Given the description of an element on the screen output the (x, y) to click on. 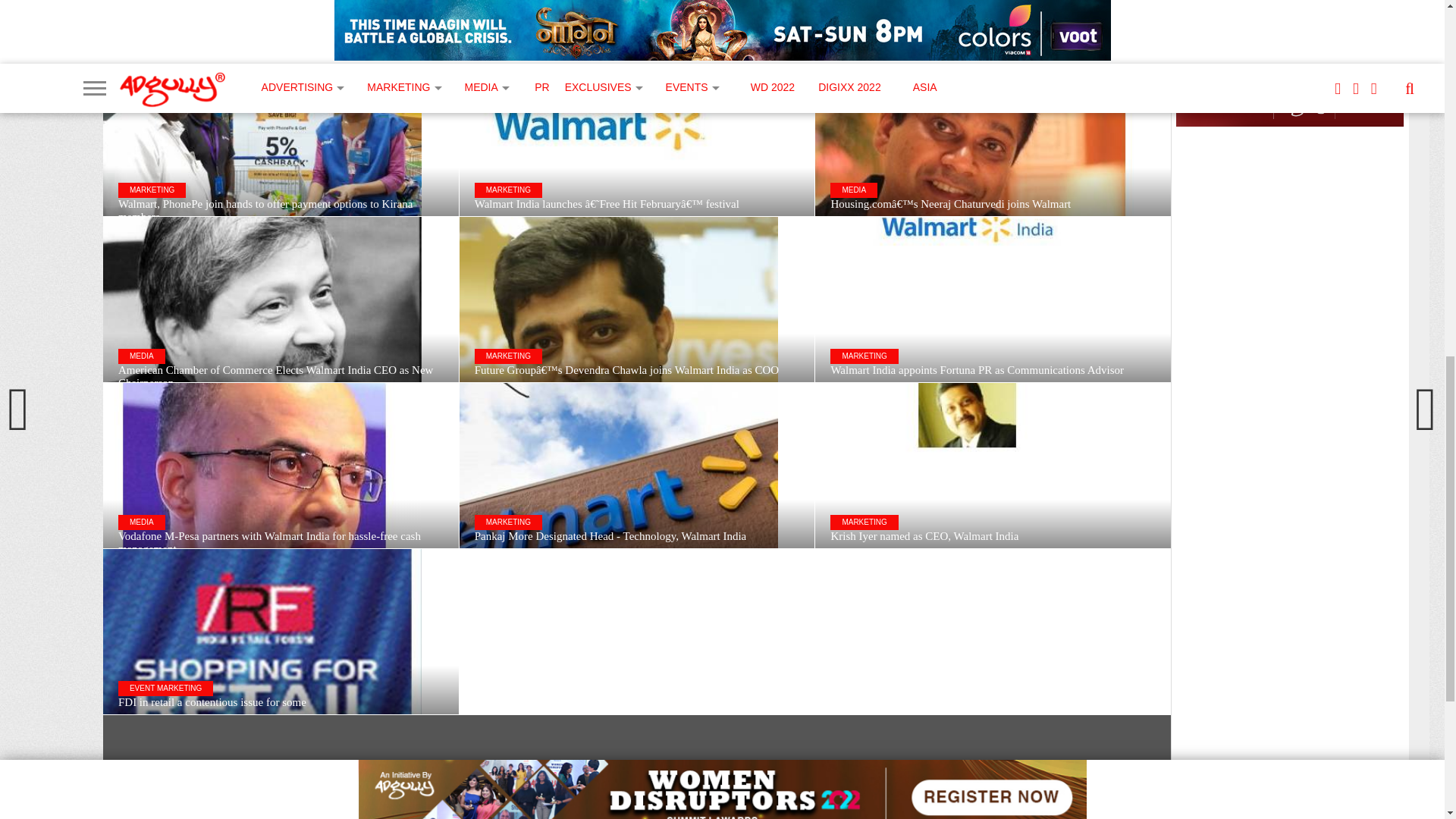
Advertising (612, 812)
Entertainment (528, 812)
Star Plus (683, 812)
Zee TV (671, 793)
Colors (621, 793)
Marketing (560, 793)
Television (729, 793)
Media (504, 793)
